Given the description of an element on the screen output the (x, y) to click on. 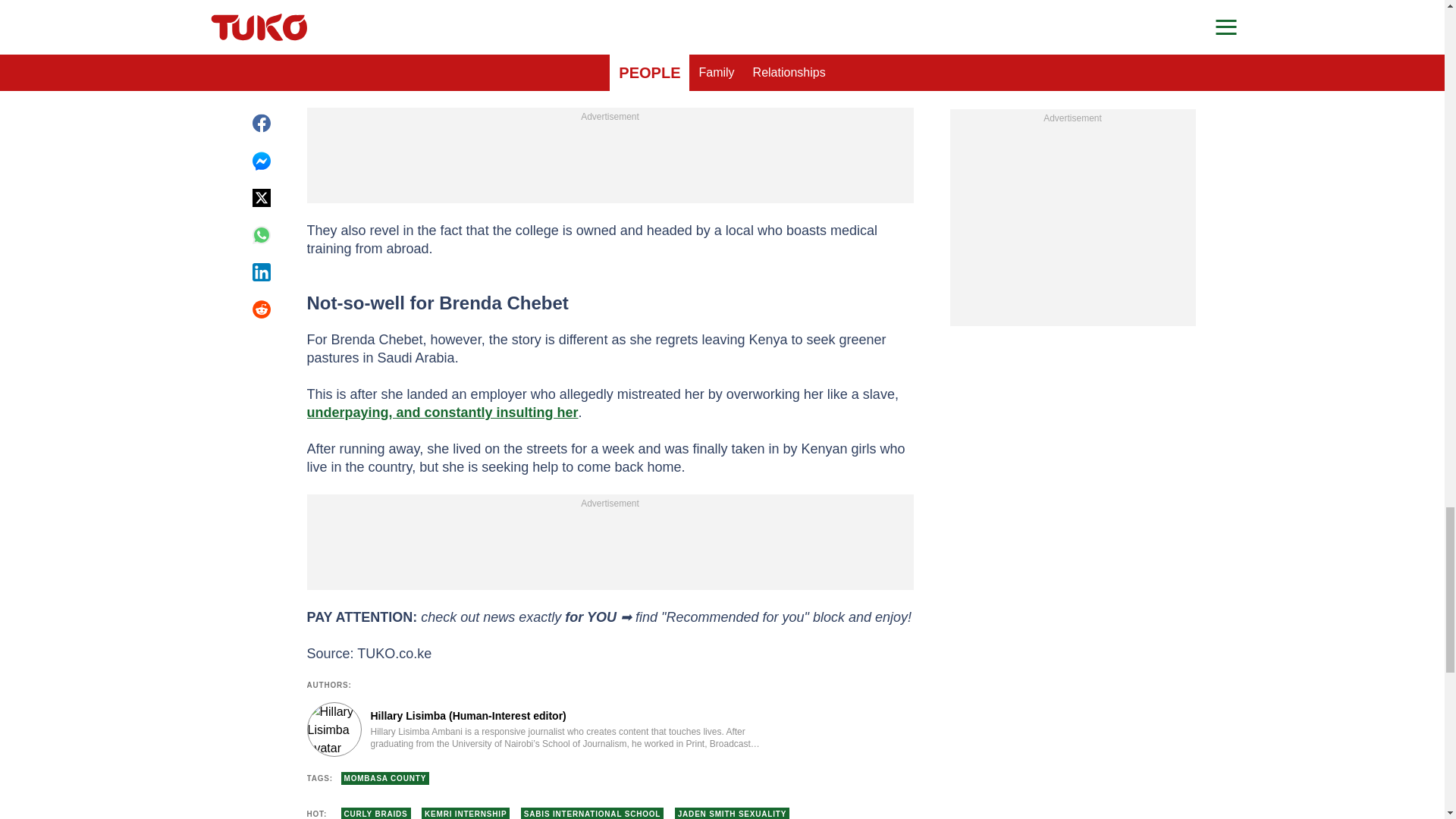
Author page (533, 728)
